Given the description of an element on the screen output the (x, y) to click on. 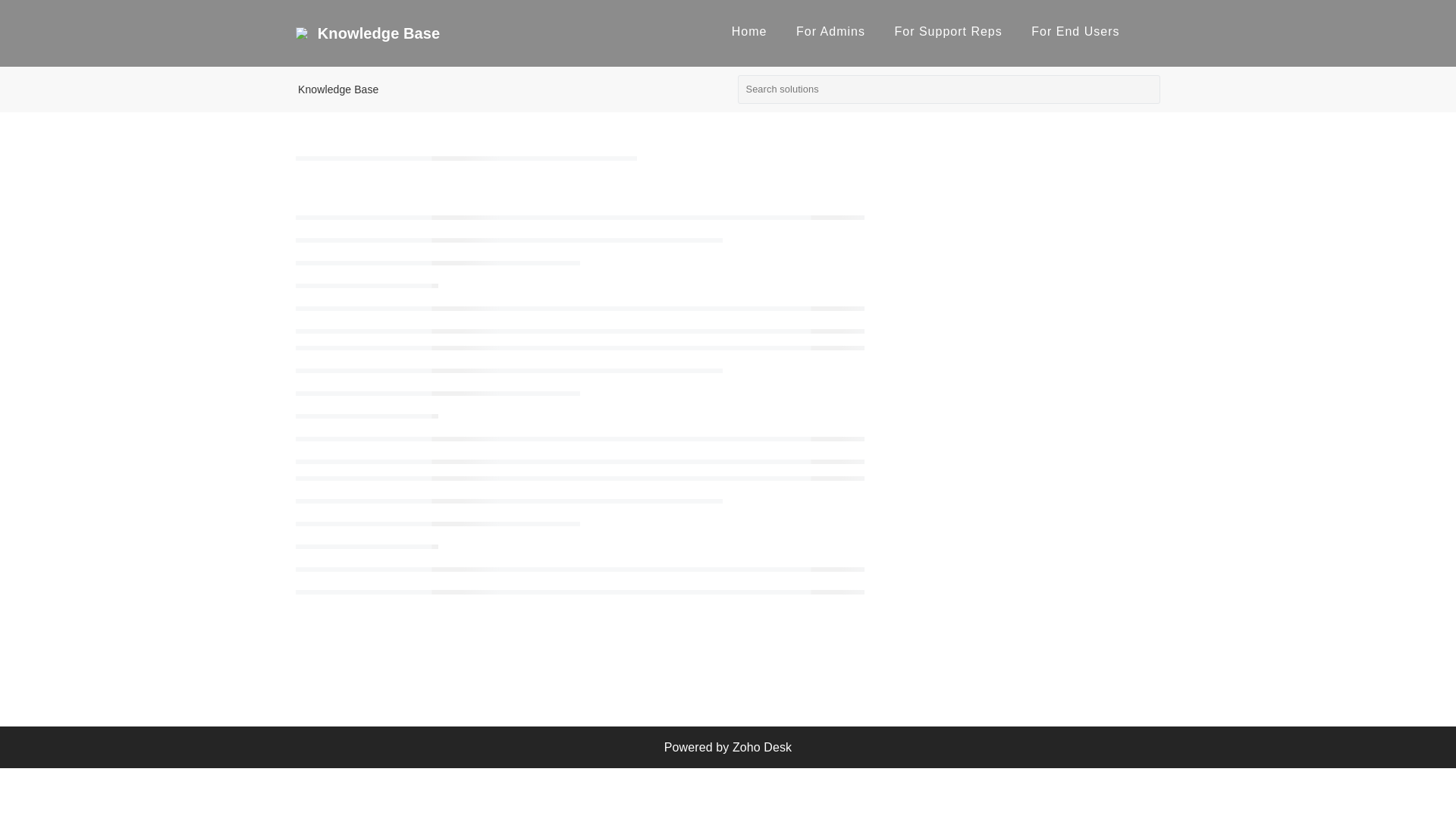
For Support Reps (947, 31)
For Admins (830, 31)
Search (1147, 92)
Knowledge Base (338, 89)
Zoho Desk (762, 747)
Home (749, 31)
Home (749, 31)
For End Users (1074, 31)
